Given the description of an element on the screen output the (x, y) to click on. 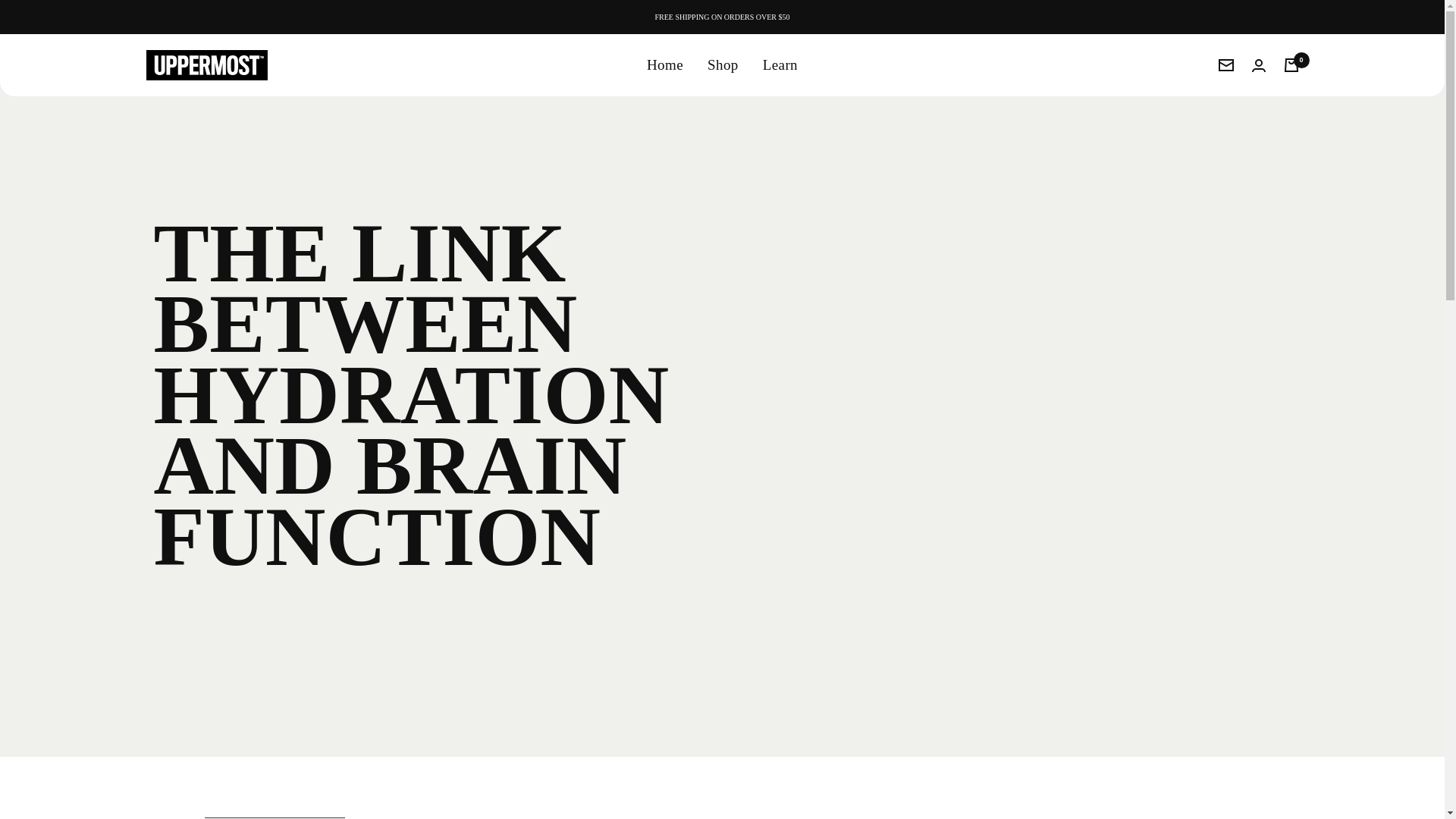
Newsletter (1225, 64)
BLOG (195, 60)
Home (162, 60)
Shop (722, 65)
Home (664, 65)
0 (1290, 65)
Learn (779, 65)
UPPERMOST (205, 64)
